Given the description of an element on the screen output the (x, y) to click on. 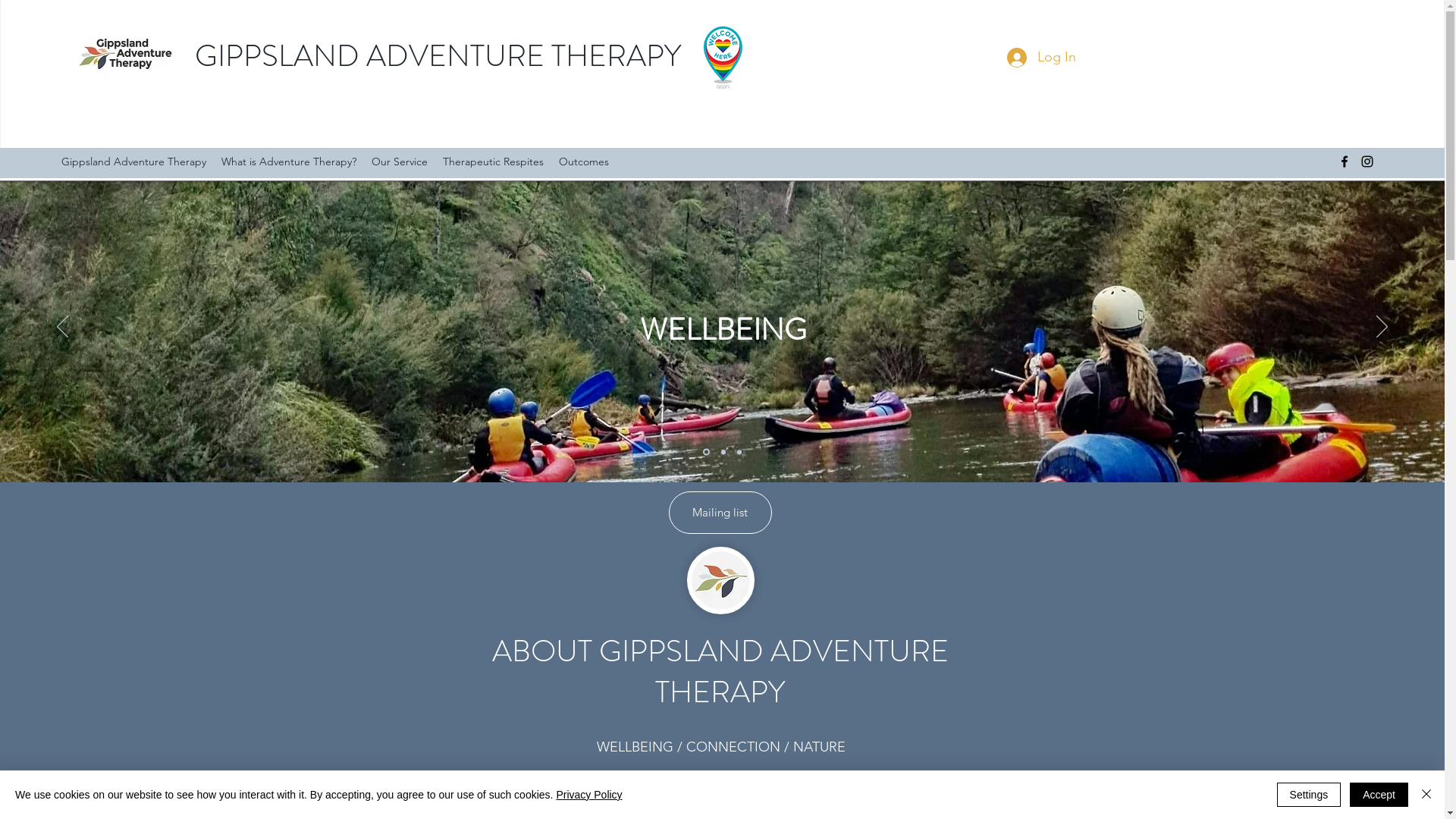
Log In Element type: text (1041, 57)
Settings Element type: text (1309, 794)
Mailing list Element type: text (719, 512)
GIPPSLAND ADVENTURE THERAPY Element type: text (437, 55)
What is Adventure Therapy? Element type: text (288, 161)
Therapeutic Respites Element type: text (493, 161)
Privacy Policy Element type: text (588, 794)
Accept Element type: text (1378, 794)
